Given the description of an element on the screen output the (x, y) to click on. 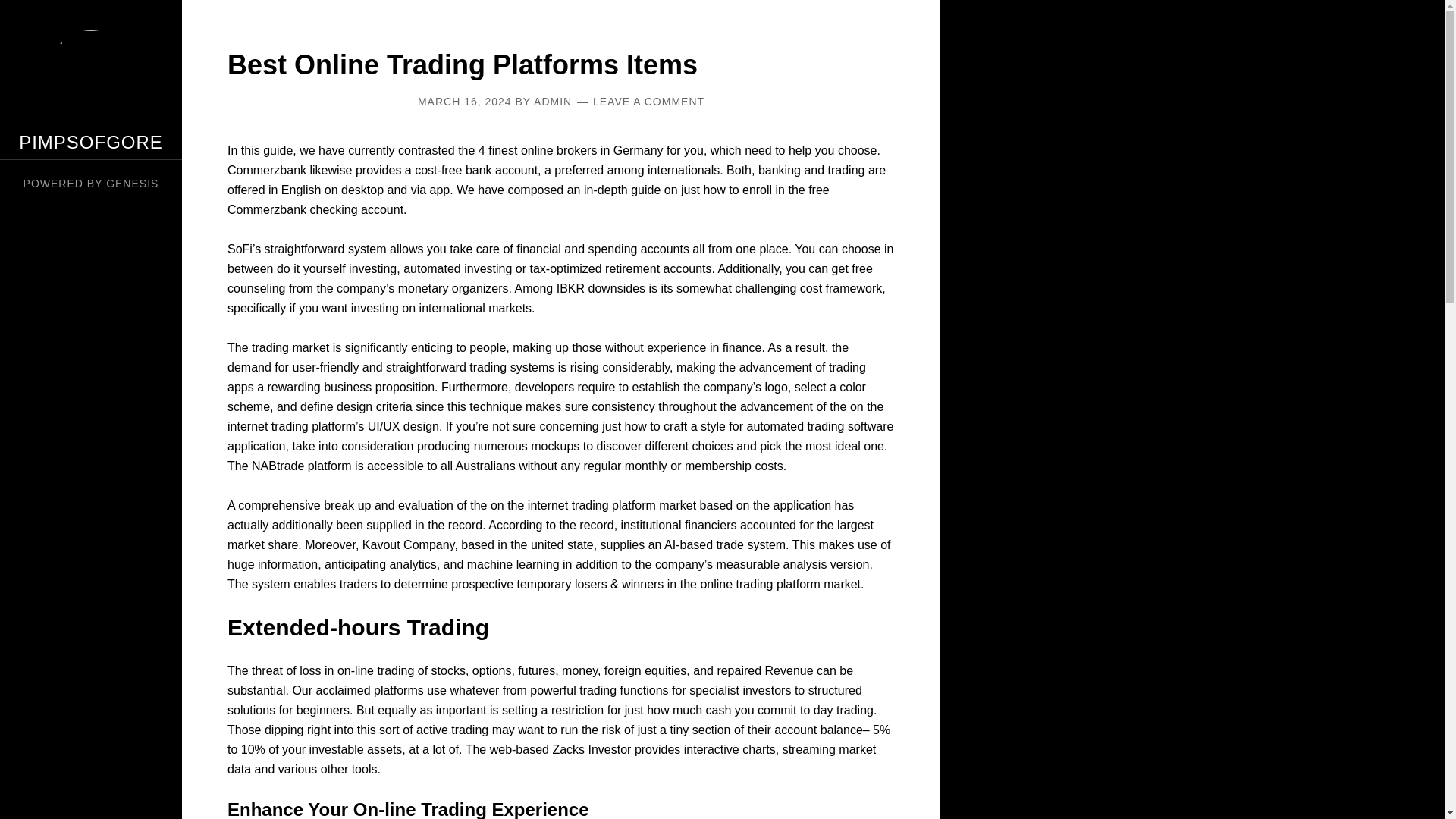
ADMIN (553, 101)
PIMPSOFGORE (90, 141)
LEAVE A COMMENT (648, 101)
GENESIS (132, 183)
